Given the description of an element on the screen output the (x, y) to click on. 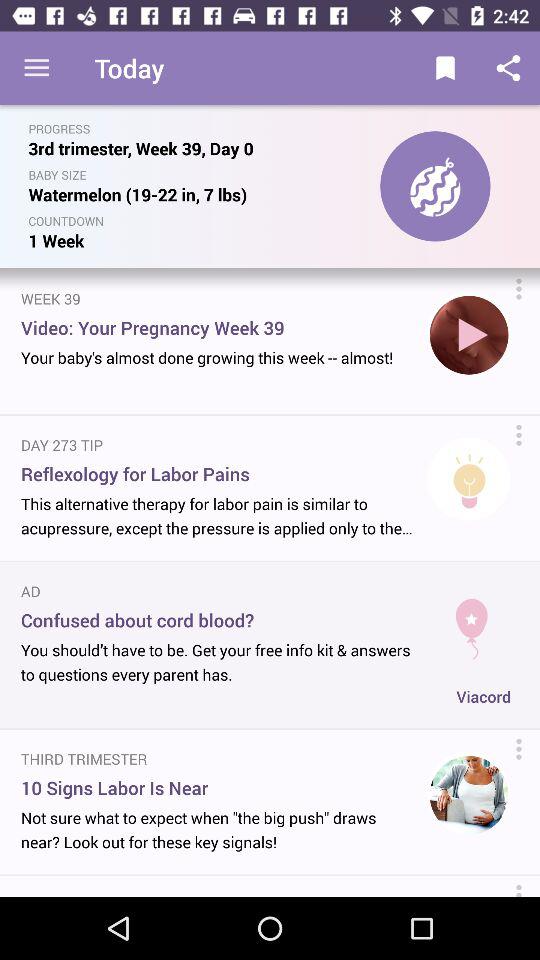
turn on item to the right of the ad item (471, 620)
